Given the description of an element on the screen output the (x, y) to click on. 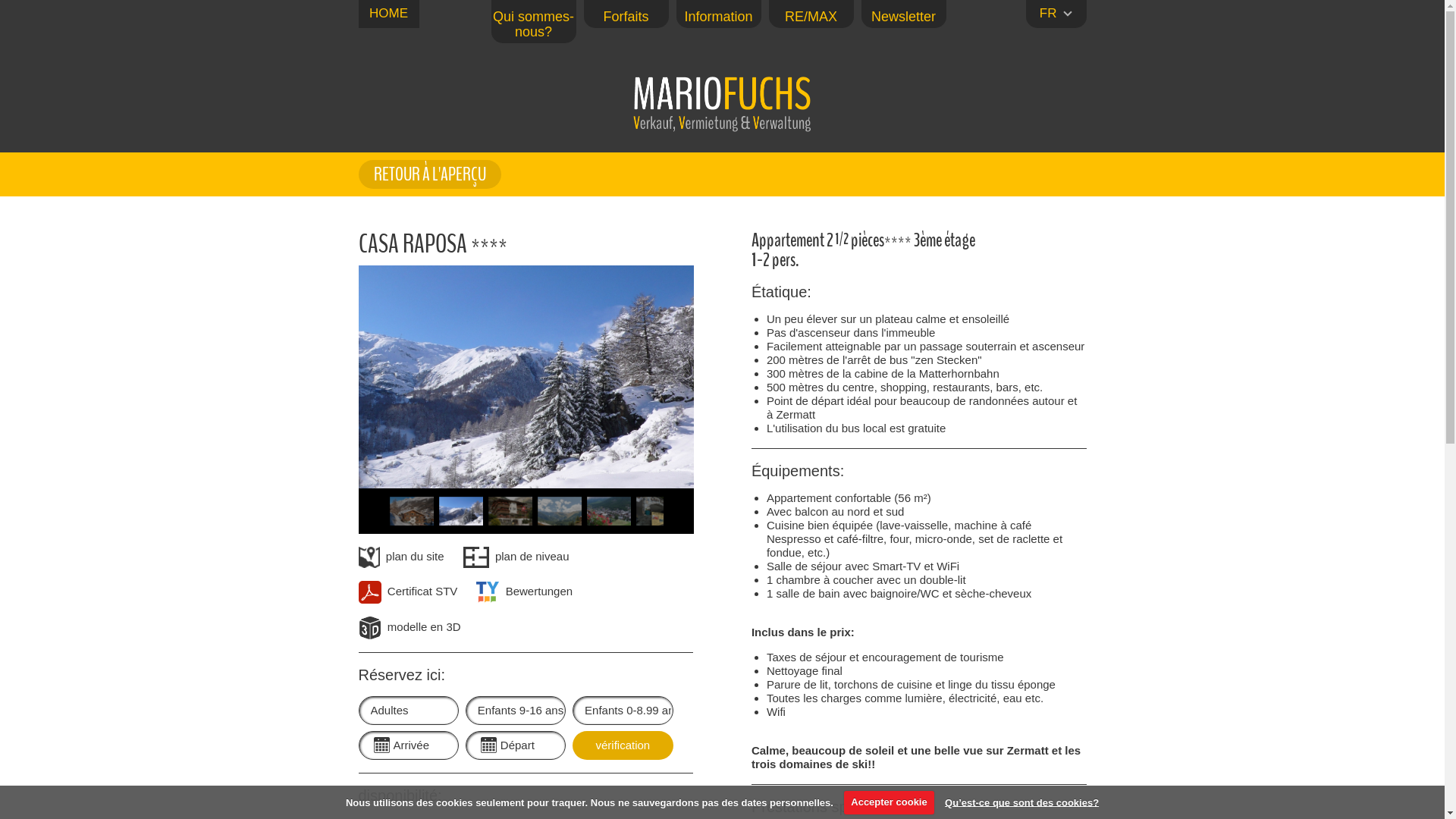
Enfants 0-8.99 ans Element type: text (622, 710)
Qui sommes-nous? Element type: text (533, 24)
Information Element type: text (718, 16)
Forfaits Element type: text (625, 16)
  Bewertungen Element type: text (524, 590)
  plan de niveau Element type: text (516, 555)
  modelle en 3D Element type: text (408, 626)
Adultes Element type: text (407, 710)
HOME Element type: text (387, 17)
Accepter cookie Element type: text (889, 801)
Newsletter Element type: text (903, 16)
Enfants 9-16 ans Element type: text (515, 710)
  Certificat STV Element type: text (407, 590)
RE/MAX Element type: text (810, 16)
  plan du site Element type: text (400, 555)
